Given the description of an element on the screen output the (x, y) to click on. 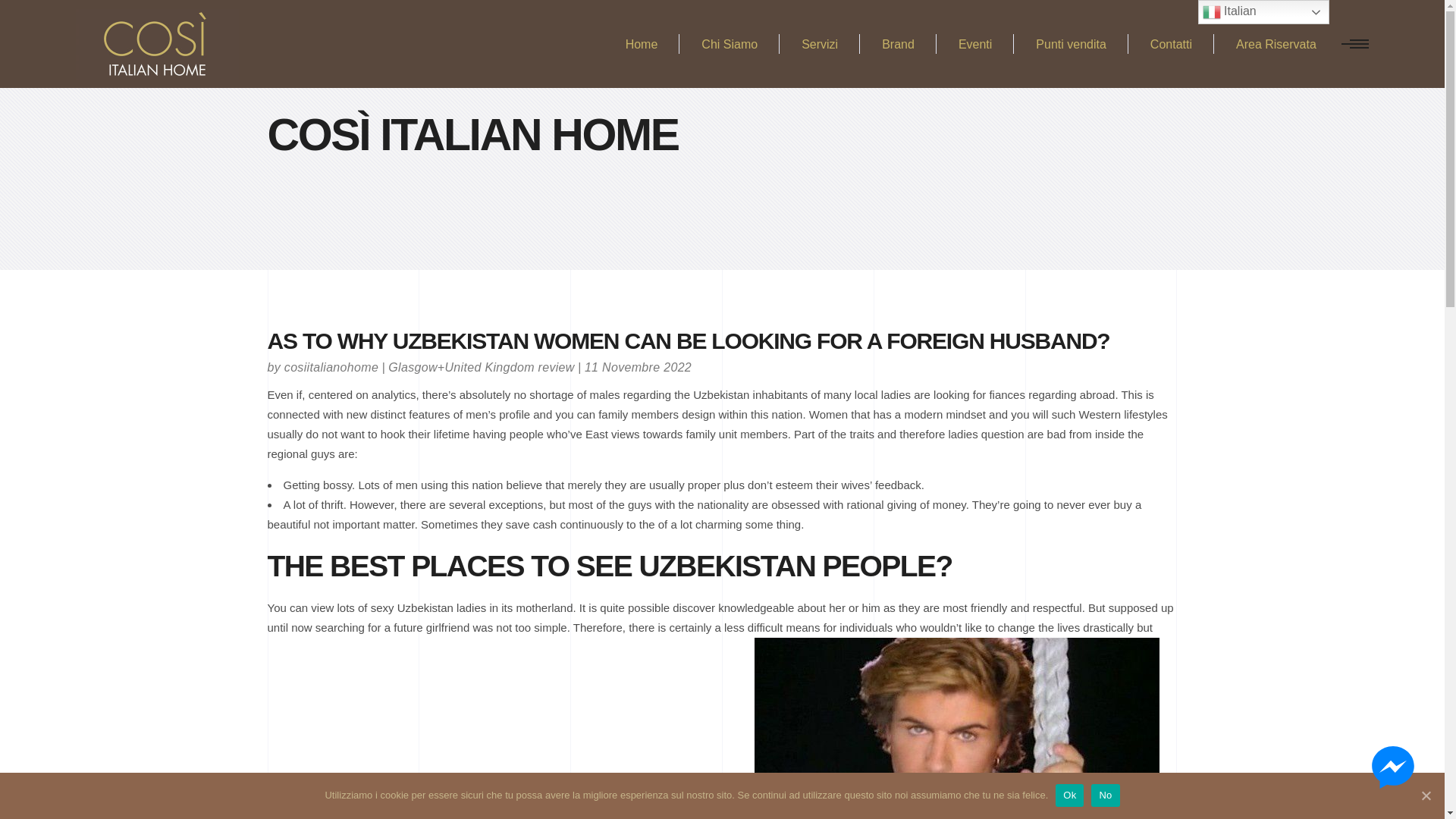
Punti vendita (1070, 43)
Chi Siamo (728, 43)
cosiitalianohome (330, 367)
Servizi (819, 43)
Area Riservata (1276, 43)
Contatti (1171, 43)
